Given the description of an element on the screen output the (x, y) to click on. 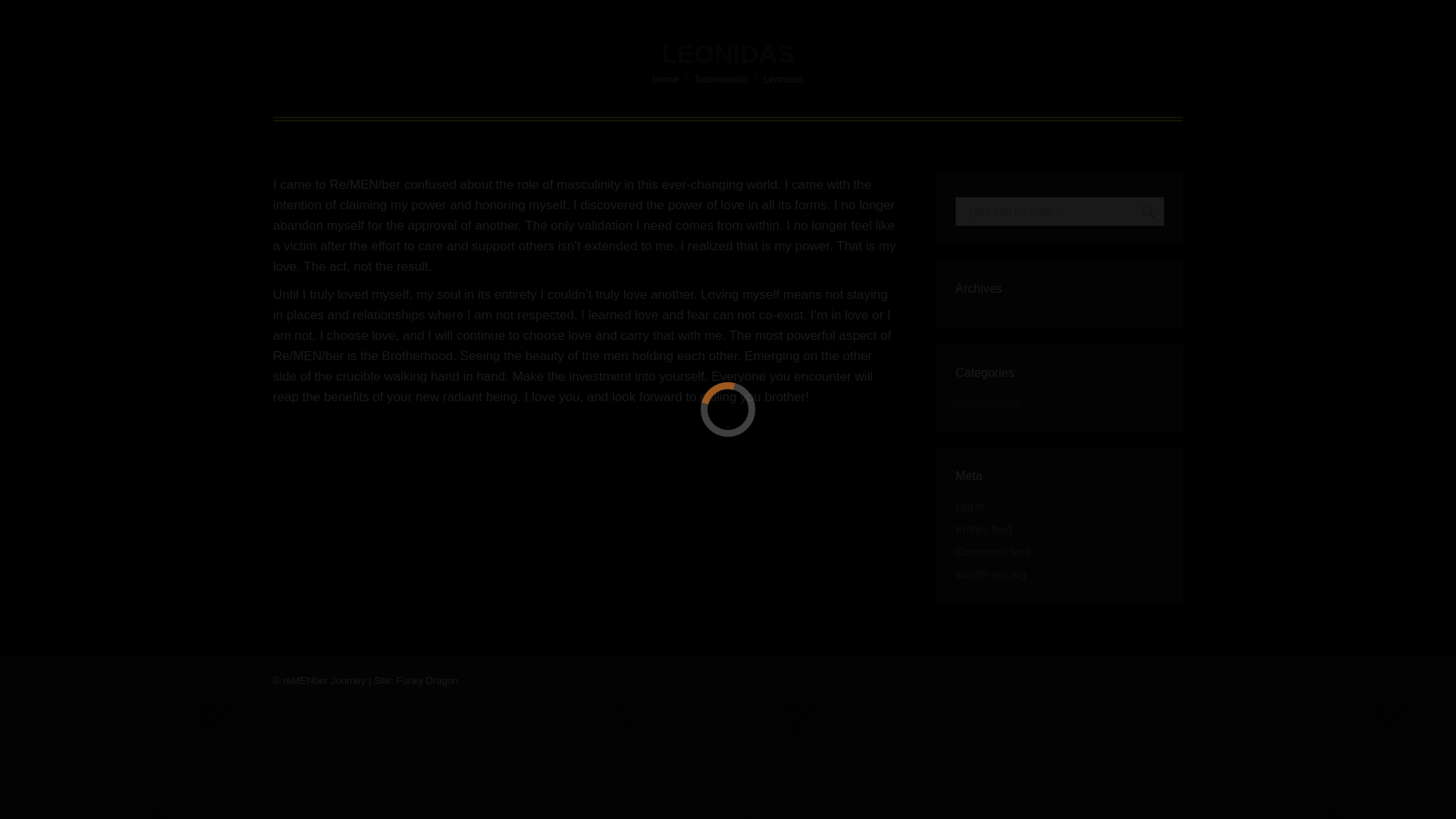
WordPress.org (990, 574)
Home (665, 79)
Log in (969, 506)
Comments feed (992, 551)
Go! (1140, 211)
Go! (1140, 211)
Home (665, 79)
Testimonials (721, 79)
Funky Dragon (427, 680)
Testimonials (721, 79)
